Given the description of an element on the screen output the (x, y) to click on. 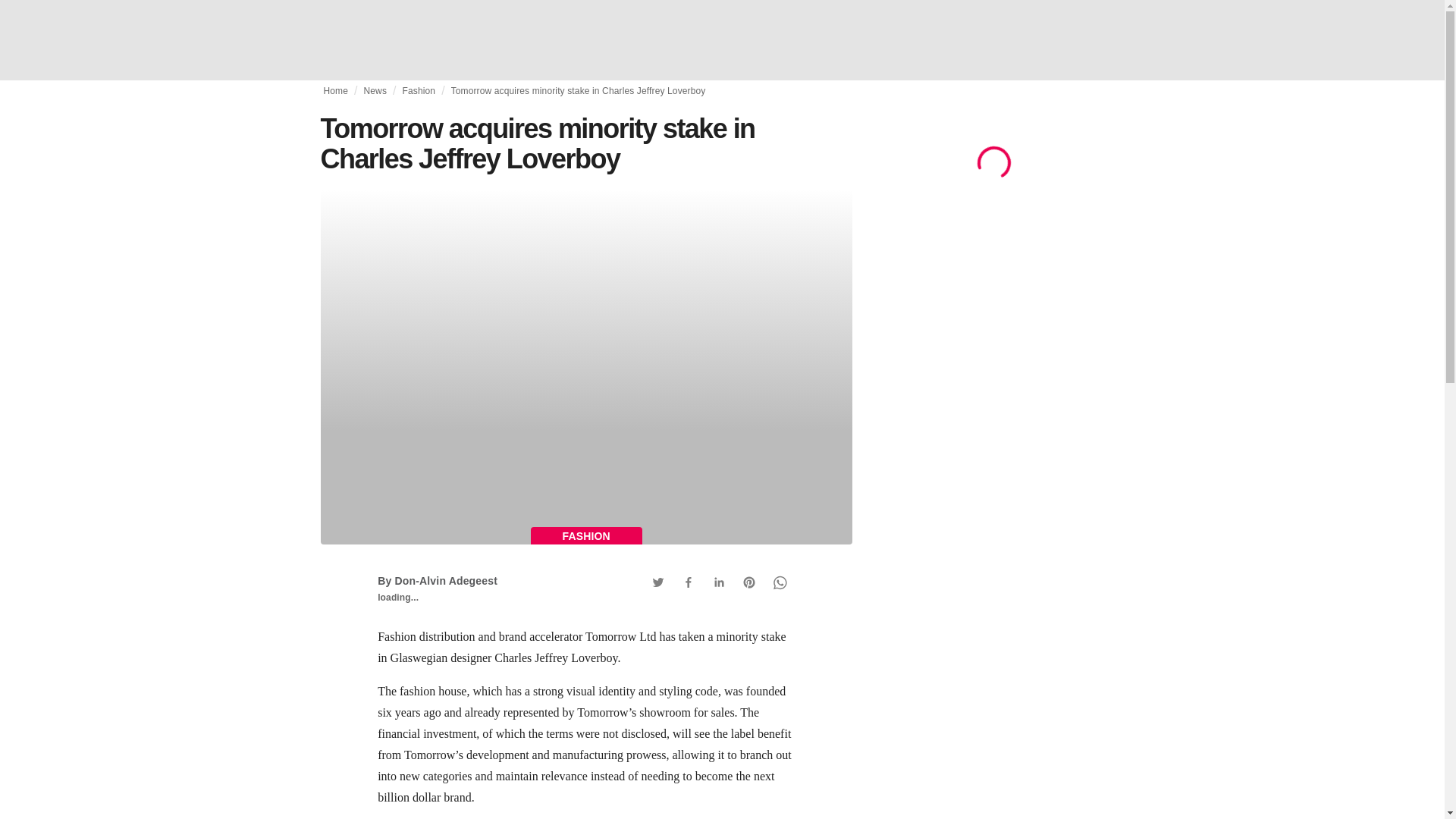
News (375, 90)
Tomorrow acquires minority stake in Charles Jeffrey Loverboy (578, 90)
Fashion (418, 90)
By Don-Alvin Adegeest (437, 580)
Home (335, 90)
